Given the description of an element on the screen output the (x, y) to click on. 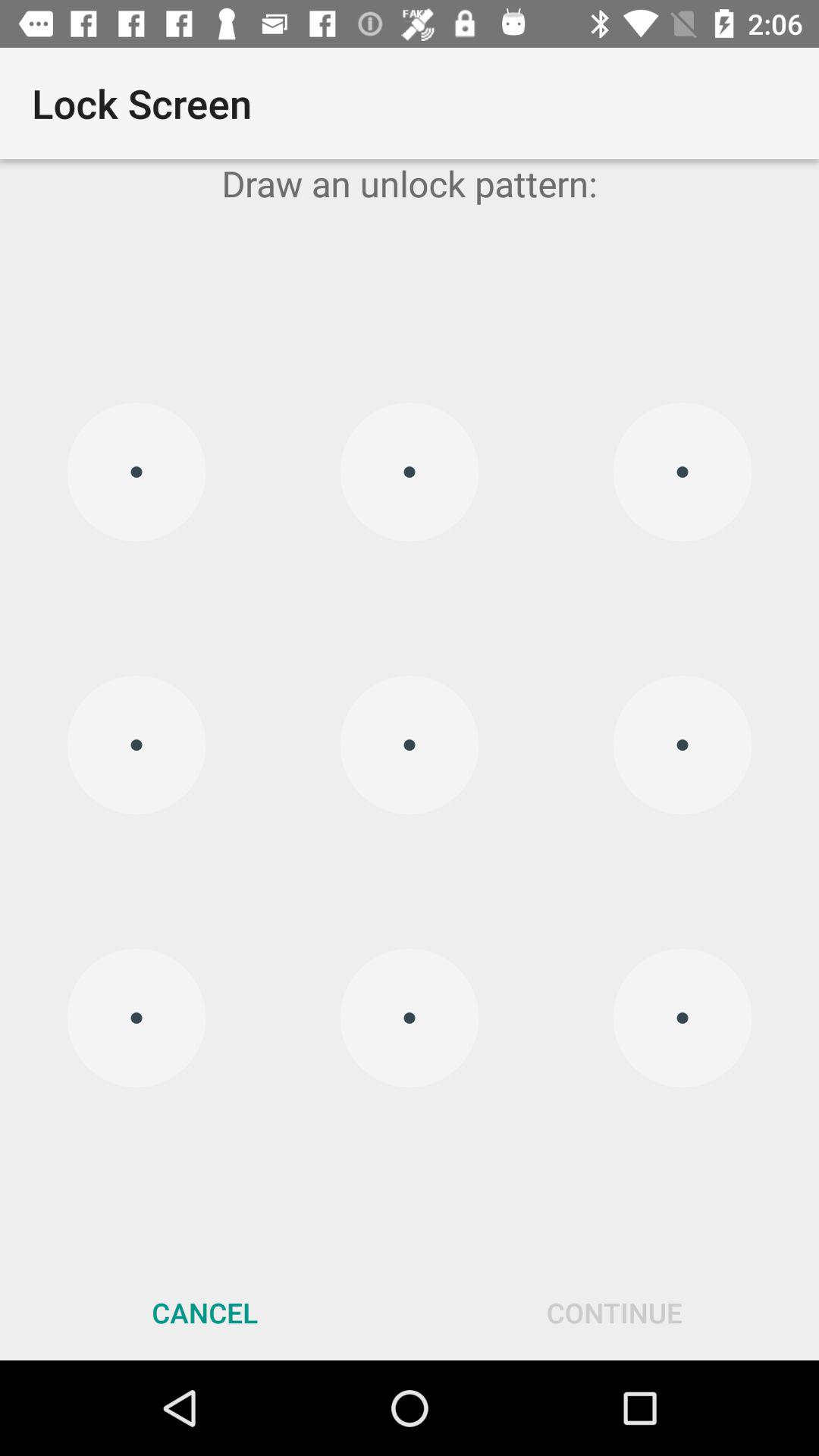
open the cancel item (204, 1312)
